Given the description of an element on the screen output the (x, y) to click on. 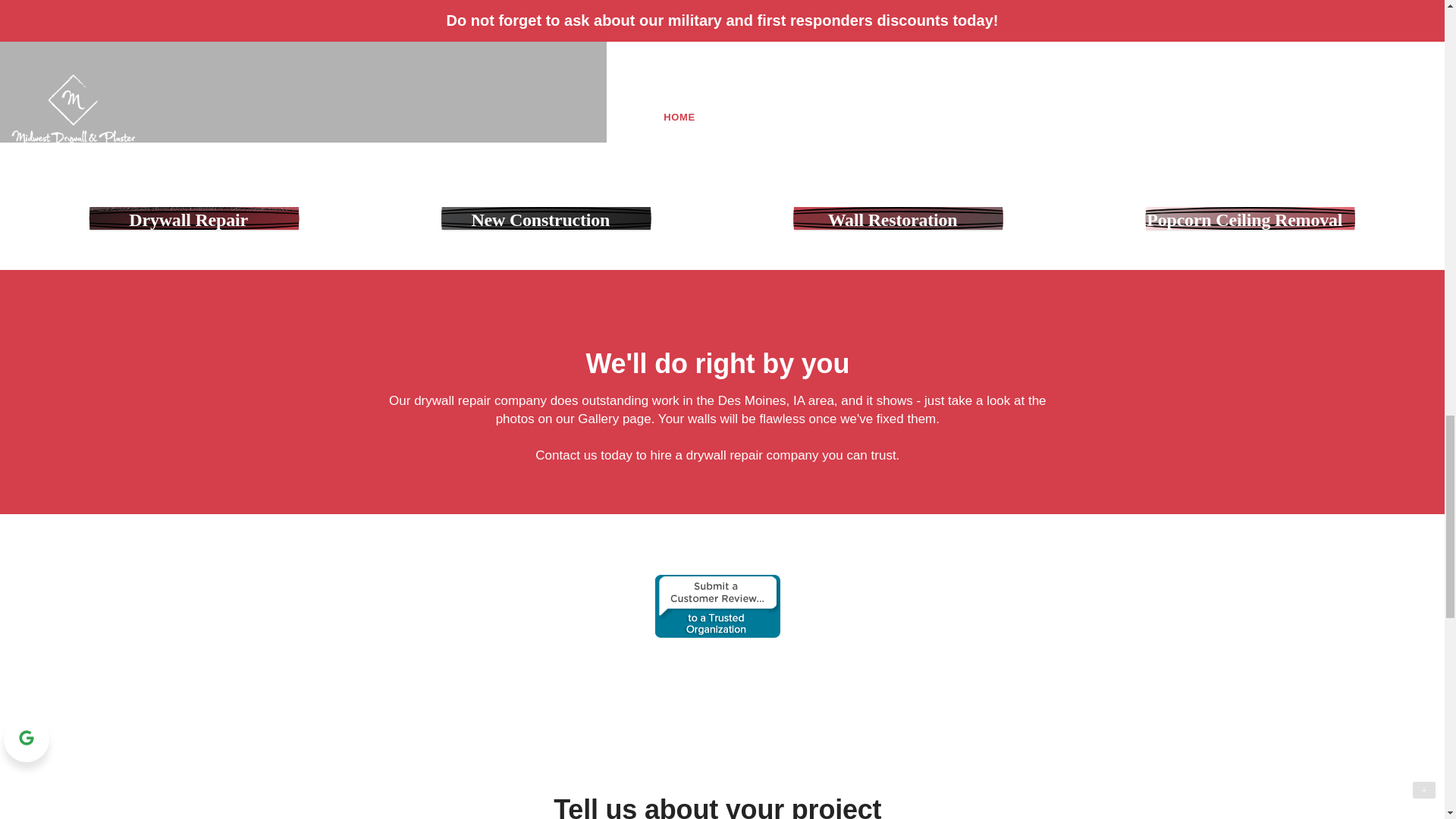
New Construction (545, 218)
Wall Restoration (898, 218)
Popcorn Ceiling Removal (1249, 218)
Drywall Repair (194, 218)
